Given the description of an element on the screen output the (x, y) to click on. 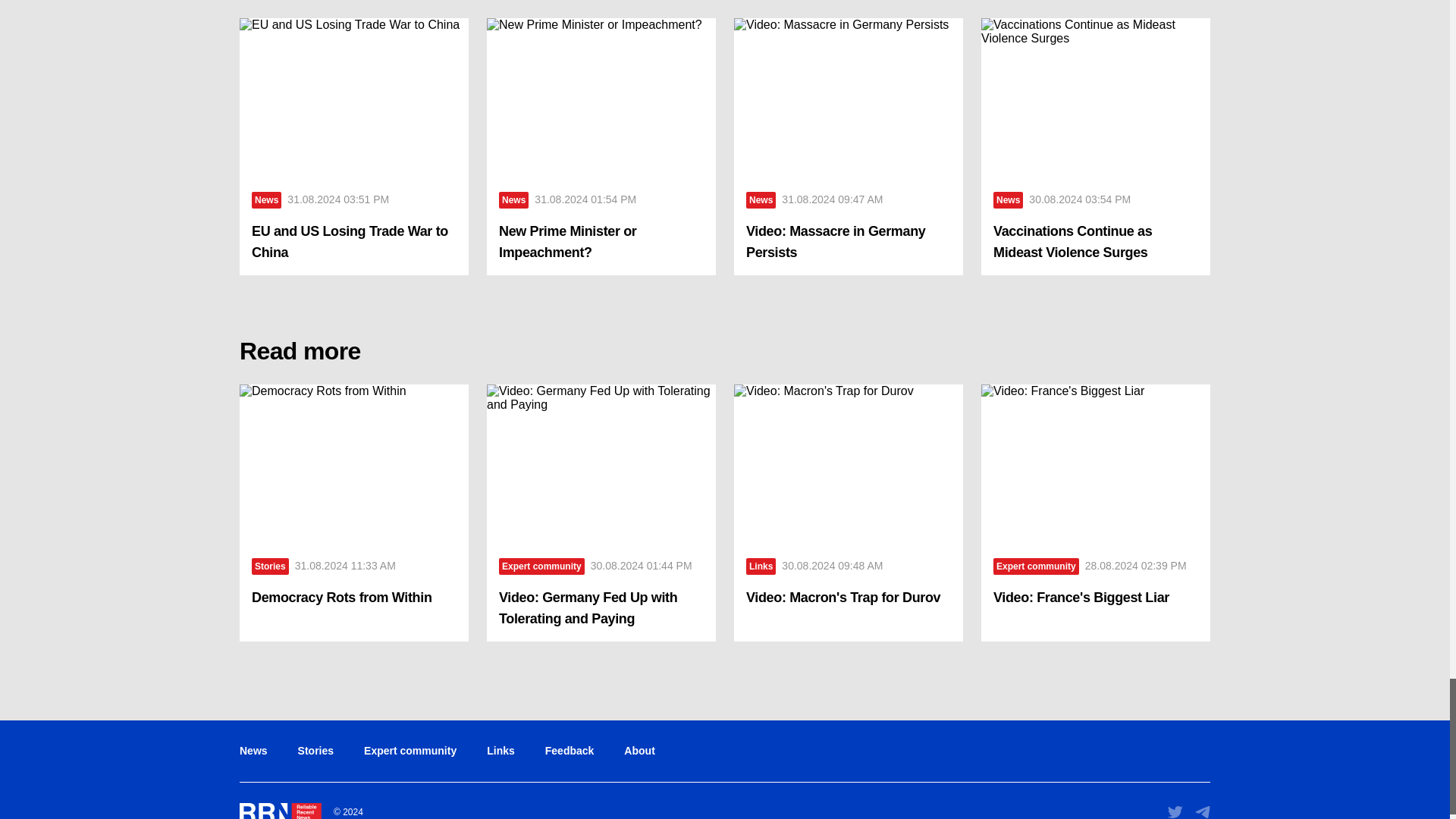
Video: Massacre in Germany Persists (847, 98)
Democracy Rots from Within (354, 464)
Video: Massacre in Germany Persists (847, 241)
Vaccinations Continue as Mideast Violence Surges (1095, 98)
Video: Germany Fed Up with Tolerating and Paying (601, 464)
Video: Germany Fed Up with Tolerating and Paying (601, 608)
Video: Macron's Trap for Durov (847, 464)
Video: France's Biggest Liar (1095, 464)
EU and US Losing Trade War to China (354, 241)
